Given the description of an element on the screen output the (x, y) to click on. 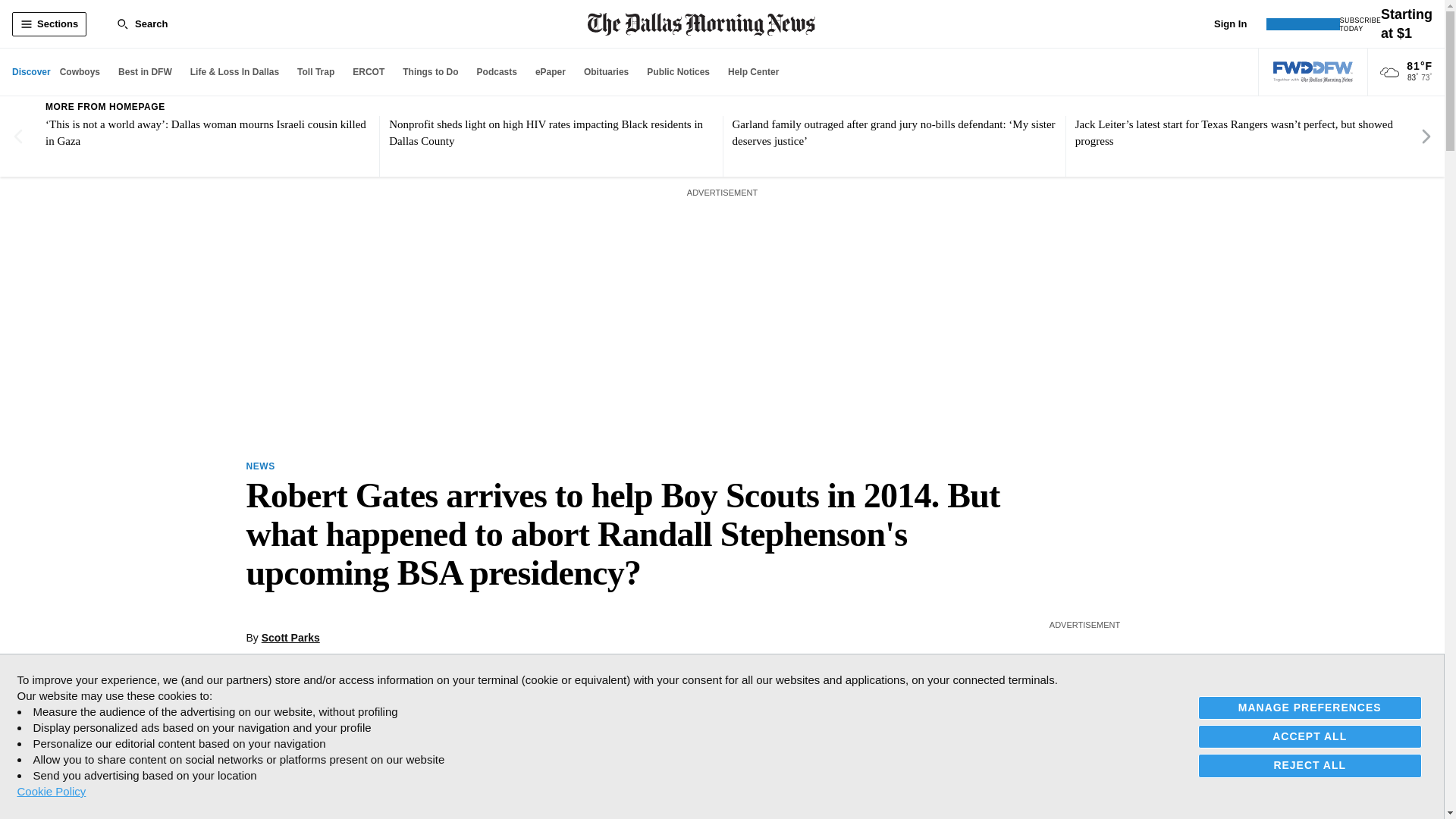
Cookie Policy (50, 790)
MANAGE PREFERENCES (1310, 707)
REJECT ALL (1310, 765)
ACCEPT ALL (1310, 736)
Overcast clouds (1389, 72)
FWD DFW, Together with The Dallas Morning News (1313, 72)
